Given the description of an element on the screen output the (x, y) to click on. 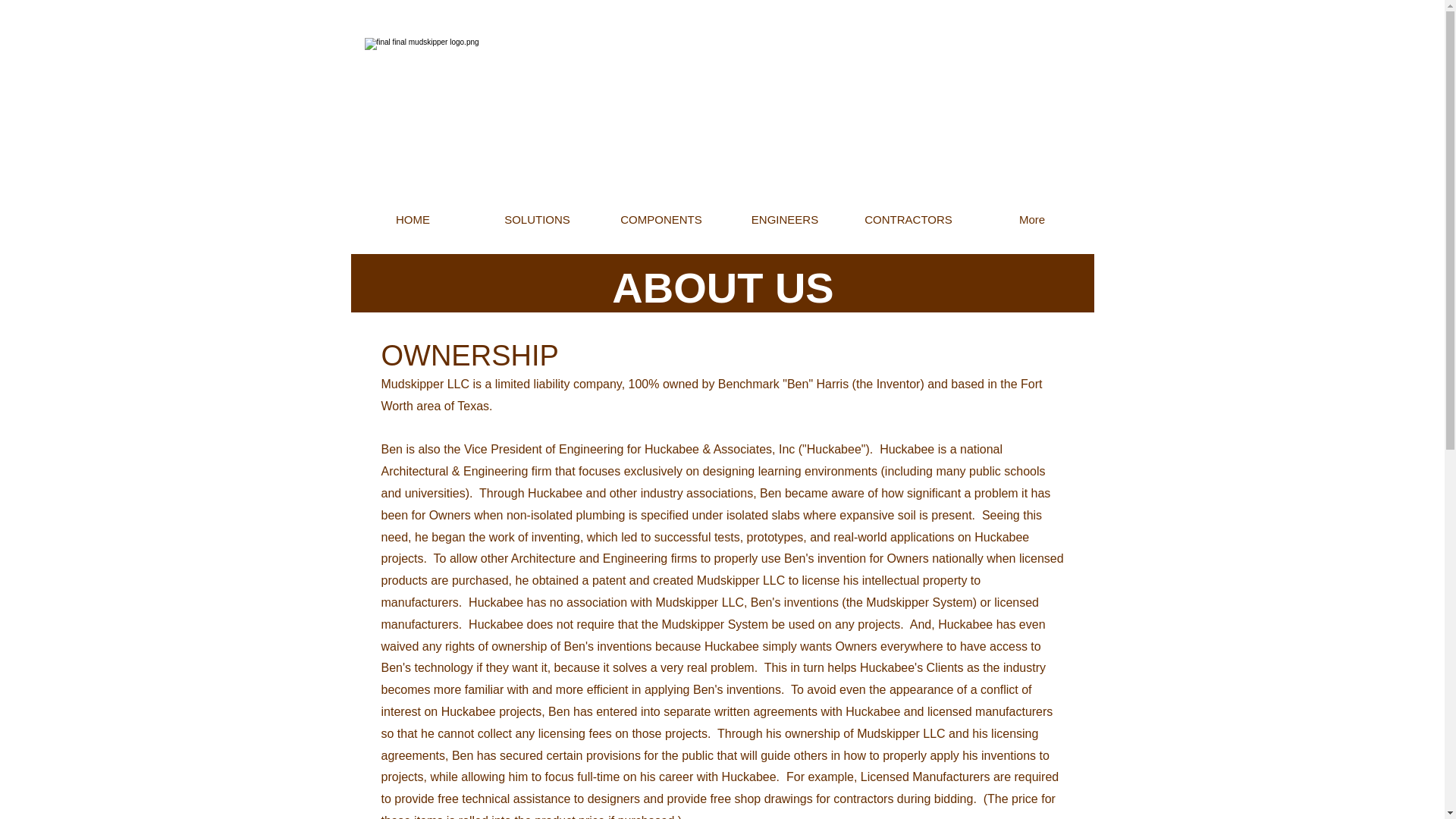
ENGINEERS (785, 219)
CONTRACTORS (907, 219)
COMPONENTS (660, 219)
SOLUTIONS (536, 219)
HOME (412, 219)
